Given the description of an element on the screen output the (x, y) to click on. 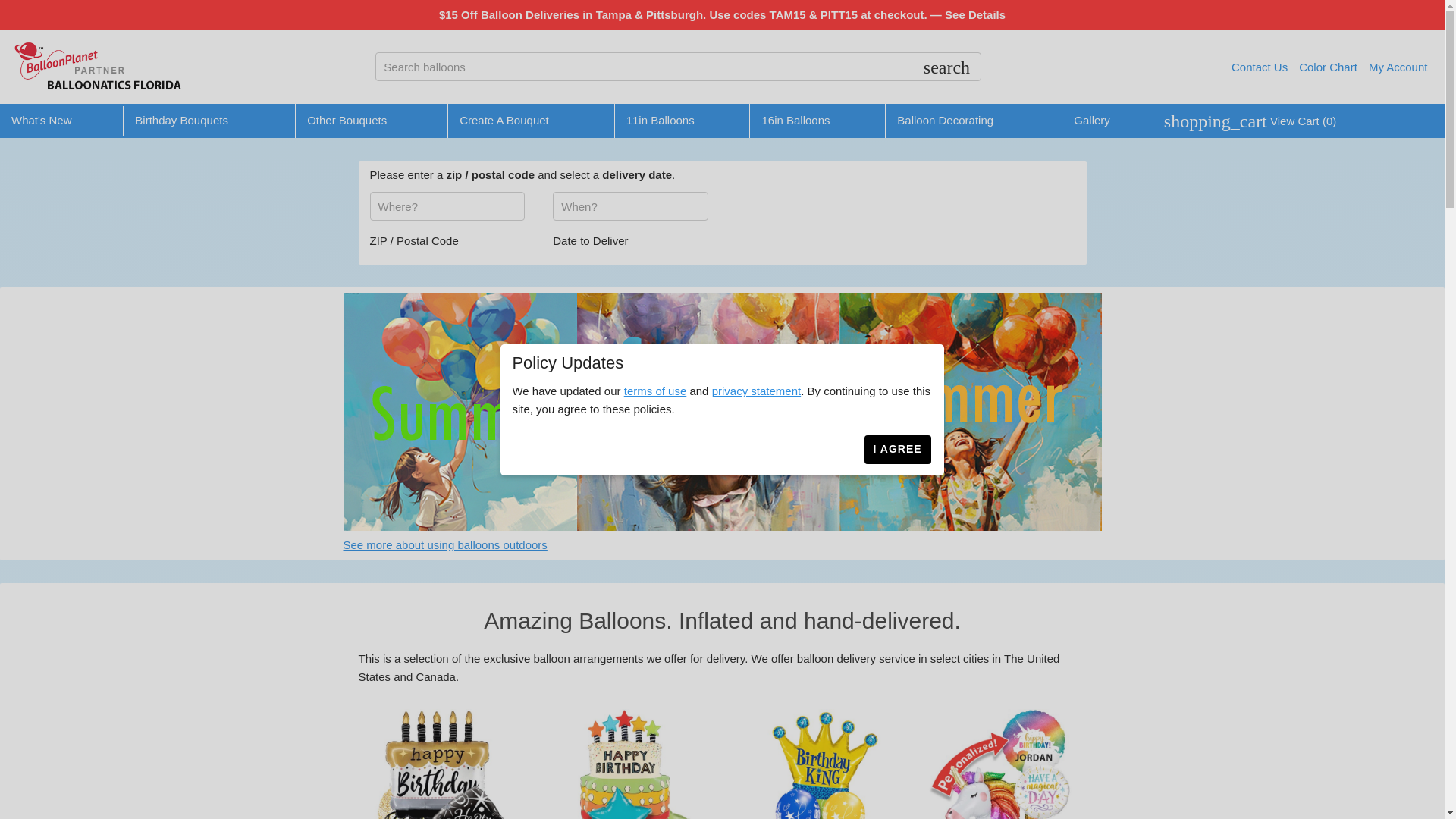
What's New (41, 119)
Contact Us (1259, 66)
My Account (1398, 66)
Other Bouquets (347, 119)
Birthday Bouquets (181, 119)
See Details (975, 13)
Color Chart (1327, 66)
